Given the description of an element on the screen output the (x, y) to click on. 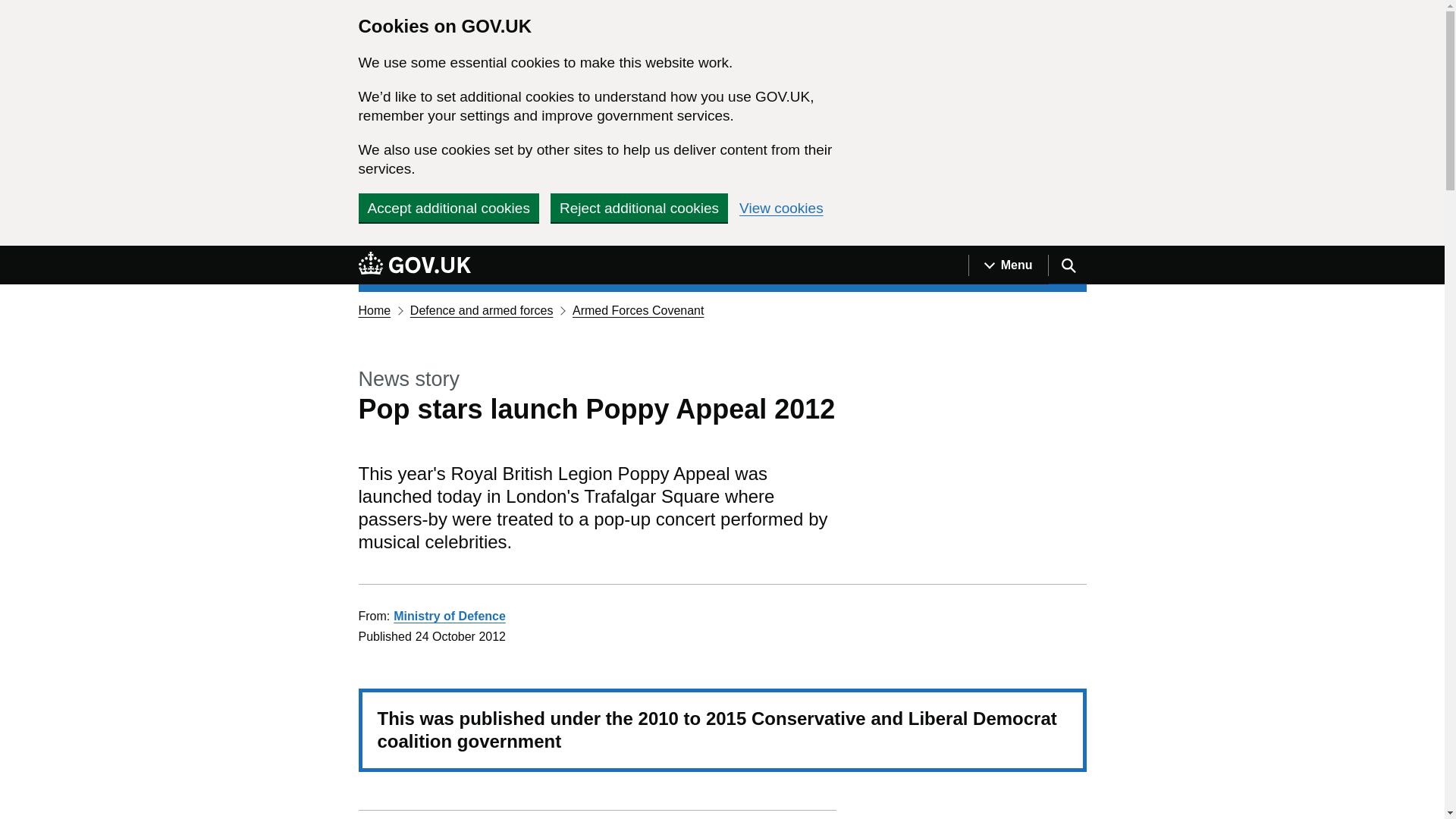
GOV.UK (414, 262)
Home (374, 309)
Search GOV.UK (1067, 265)
View cookies (781, 207)
Reject additional cookies (639, 207)
Menu (1008, 265)
Accept additional cookies (448, 207)
GOV.UK (414, 264)
Armed Forces Covenant (637, 309)
Ministry of Defence (449, 615)
Defence and armed forces (481, 309)
Skip to main content (11, 254)
